Given the description of an element on the screen output the (x, y) to click on. 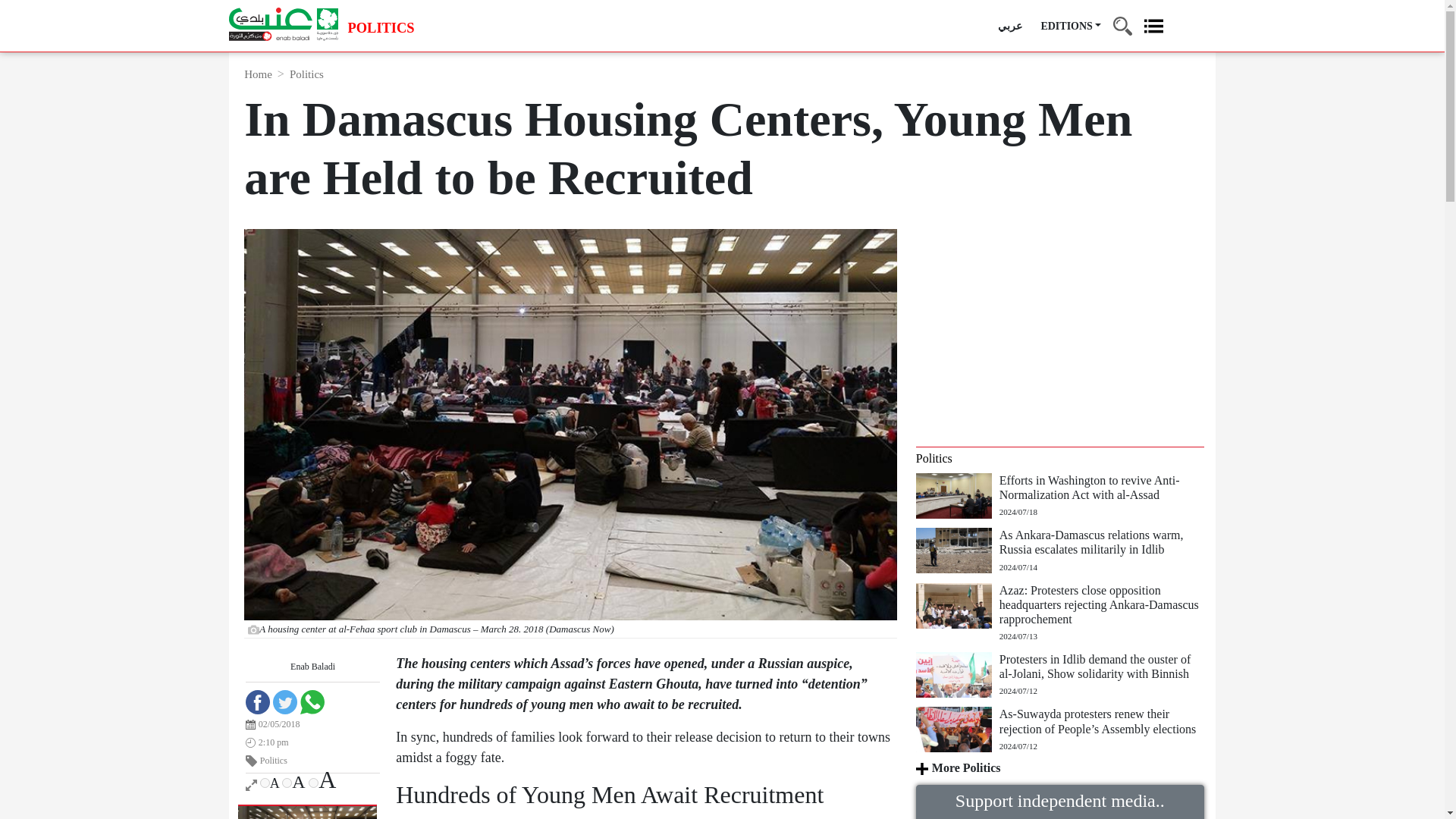
list (1153, 20)
magnifier (1122, 20)
POLITICS (381, 28)
EDITIONS (1070, 25)
on (264, 782)
on (287, 782)
logo (282, 24)
Advertisement (1060, 335)
on (313, 782)
